Given the description of an element on the screen output the (x, y) to click on. 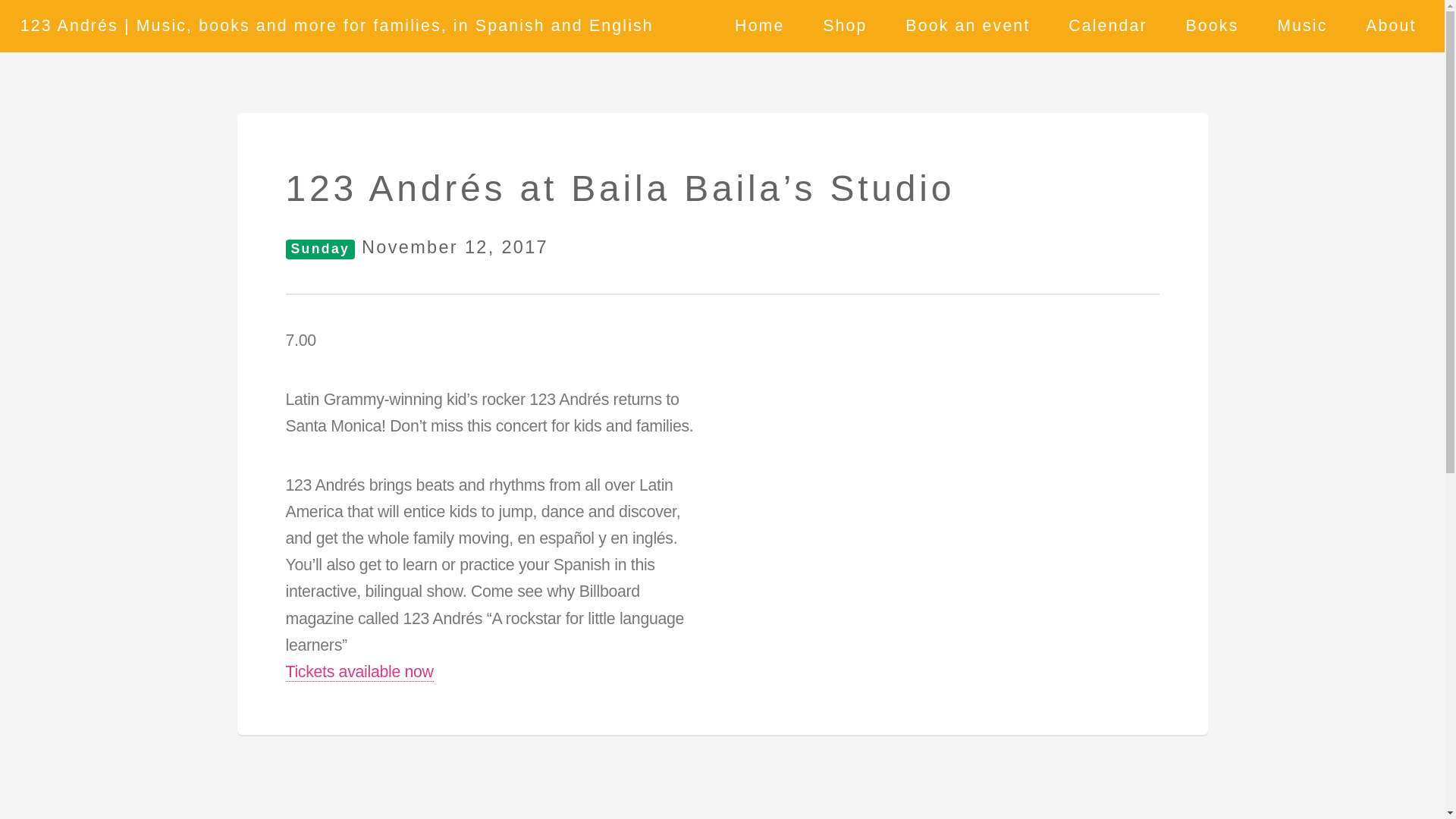
Shop Element type: text (844, 26)
About Element type: text (1390, 26)
Tickets available now Element type: text (359, 671)
Books Element type: text (1212, 26)
Calendar Element type: text (1107, 26)
Home Element type: text (759, 26)
Book an event Element type: text (967, 26)
Music Element type: text (1302, 26)
